Given the description of an element on the screen output the (x, y) to click on. 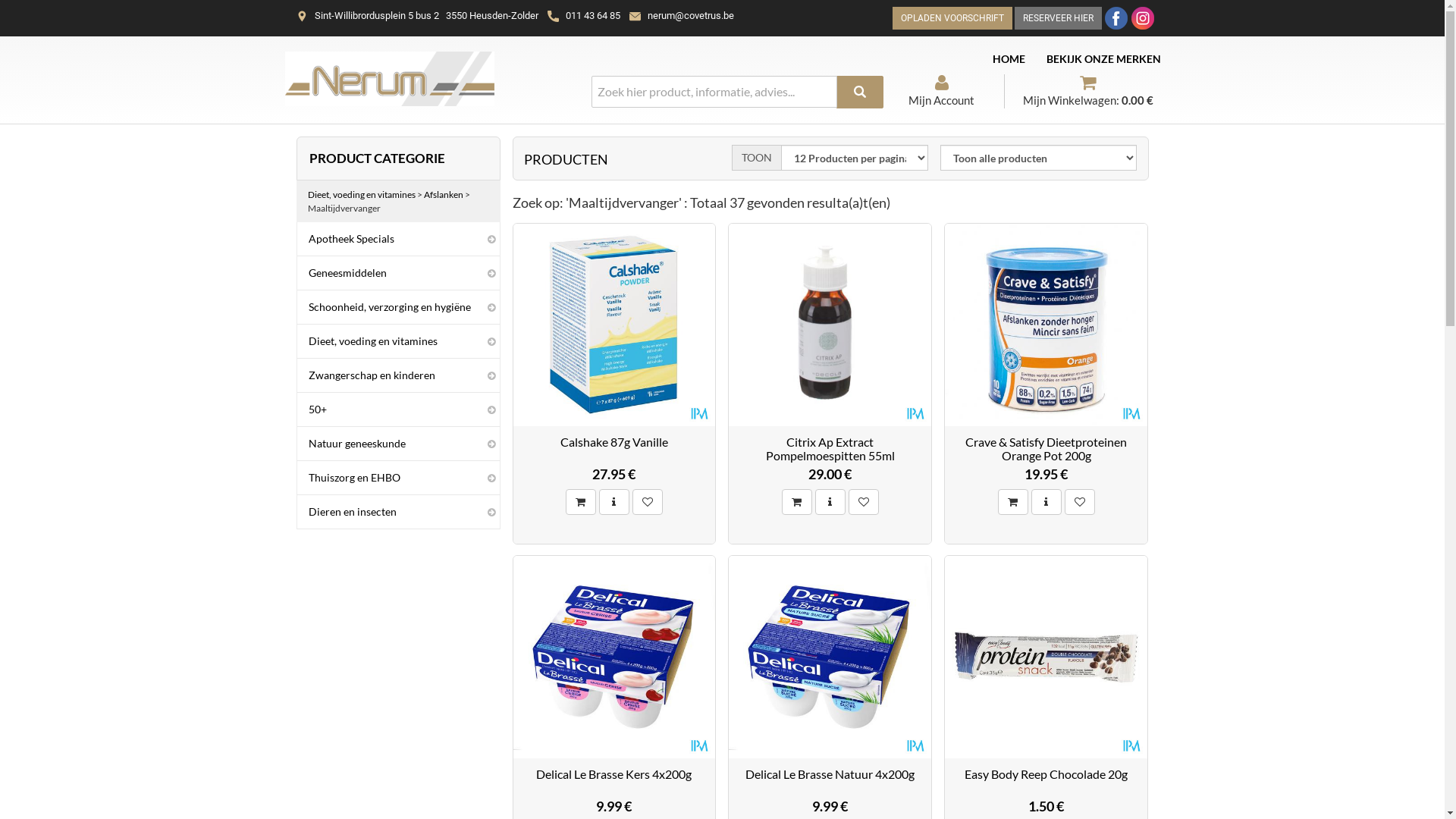
Apotheek Specials Element type: text (398, 238)
RESERVEER HIER Element type: text (1057, 17)
Afslanken Element type: text (442, 194)
BEKIJK ONZE MERKEN Element type: text (1103, 58)
Easy Body Reep Chocolade 20g Element type: text (1045, 774)
Crave & Satisfy Dieetproteinen Orange Pot 200g Element type: text (1045, 448)
Calshake 87g Vanille Element type: text (613, 441)
Toevoegen aan Wens Lijst Element type: hover (647, 501)
nerum@covetrus.be Element type: text (690, 15)
Voeg Toe Element type: hover (1012, 501)
Thuiszorg en EHBO Element type: text (398, 477)
Product Details Element type: hover (614, 501)
Dieet, voeding en vitamines Element type: text (398, 340)
Zwangerschap en kinderen Element type: text (398, 375)
Toevoegen aan Wens Lijst Element type: hover (1079, 501)
Citrix Ap Extract Pompelmoespitten 55ml Element type: text (829, 448)
Voeg Toe Element type: hover (796, 501)
Geneesmiddelen Element type: text (398, 272)
Toevoegen aan Wens Lijst Element type: hover (863, 501)
Product Details Element type: hover (830, 501)
Dieren en insecten Element type: text (398, 511)
50+ Element type: text (398, 409)
HOME Element type: text (1008, 58)
Natuur geneeskunde Element type: text (398, 443)
Delical Le Brasse Kers 4x200g Element type: text (613, 774)
Product Details Element type: hover (1046, 501)
Dieet, voeding en vitamines Element type: text (361, 194)
Delical Le Brasse Natuur 4x200g Element type: text (829, 774)
Voeg Toe Element type: hover (580, 501)
OPLADEN VOORSCHRIFT Element type: text (951, 17)
